Given the description of an element on the screen output the (x, y) to click on. 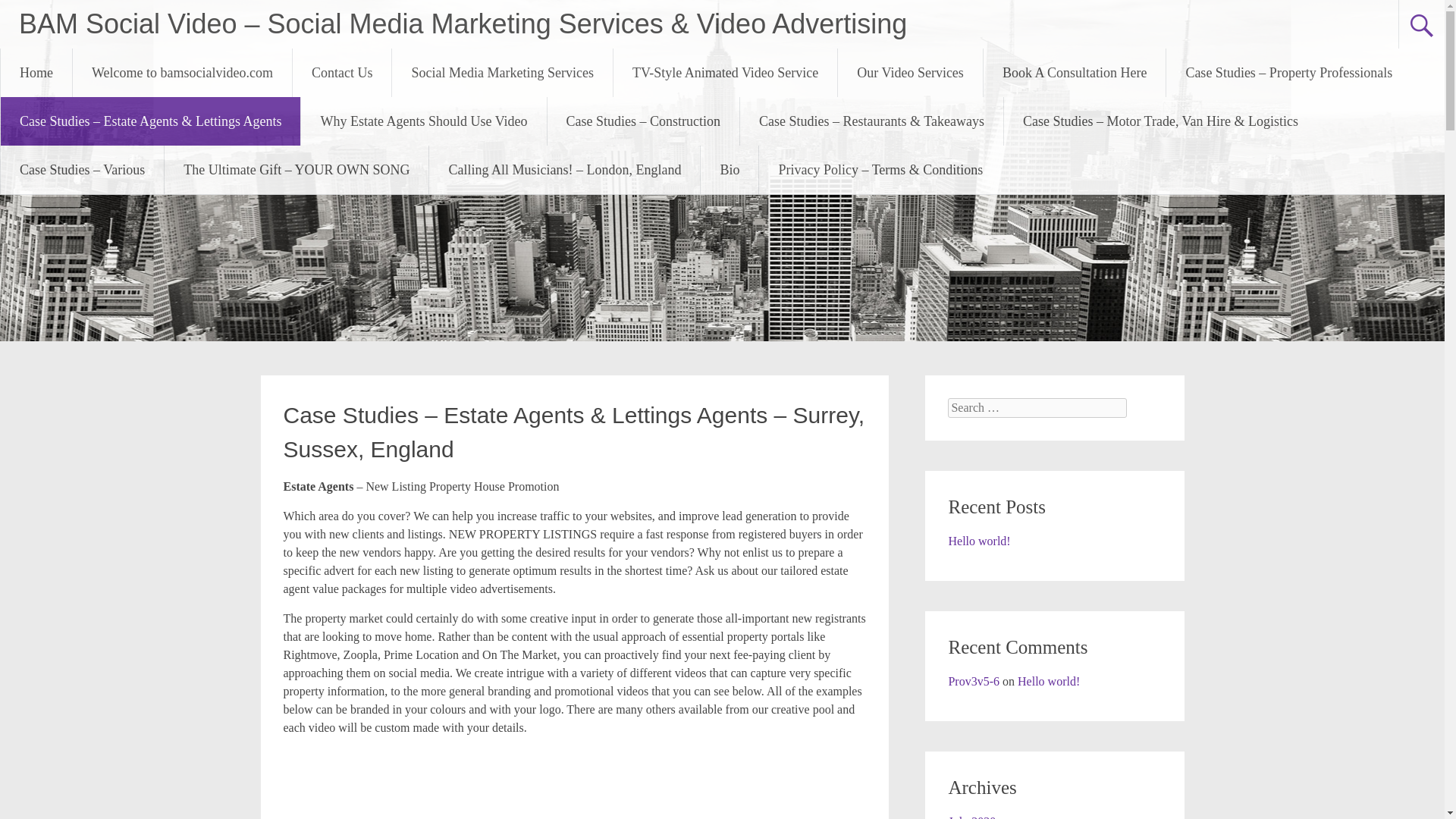
Estate Agents Booklet Example - BAM15WFD (574, 783)
Hello world! (1048, 680)
Home (36, 72)
TV-Style Animated Video Service (724, 72)
Search (26, 12)
Hello world! (978, 540)
Bio (729, 169)
Social Media Marketing Services (501, 72)
Contact Us (341, 72)
Our Video Services (910, 72)
Why Estate Agents Should Use Video (423, 121)
Prov3v5-6 (972, 680)
Book A Consultation Here (1075, 72)
Welcome to bamsocialvideo.com (182, 72)
July 2020 (971, 816)
